Given the description of an element on the screen output the (x, y) to click on. 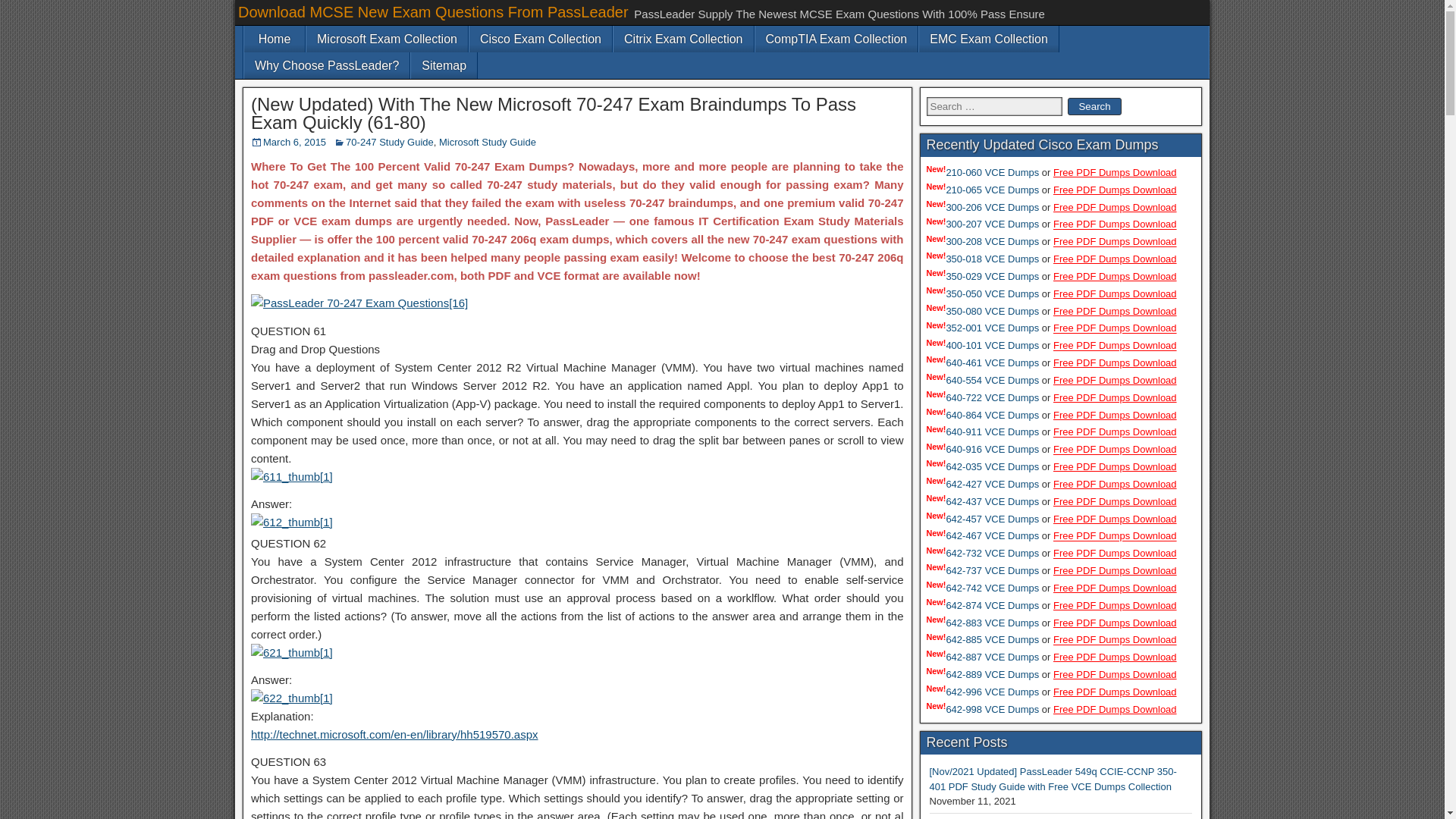
Search (1094, 106)
EMC Exam Collection (988, 38)
Why Choose PassLeader? (326, 65)
March 6, 2015 (294, 142)
Home (274, 38)
Search (1094, 106)
Microsoft Study Guide (487, 142)
Citrix Exam Collection (682, 38)
70-247 Study Guide (389, 142)
Sitemap (443, 65)
